Given the description of an element on the screen output the (x, y) to click on. 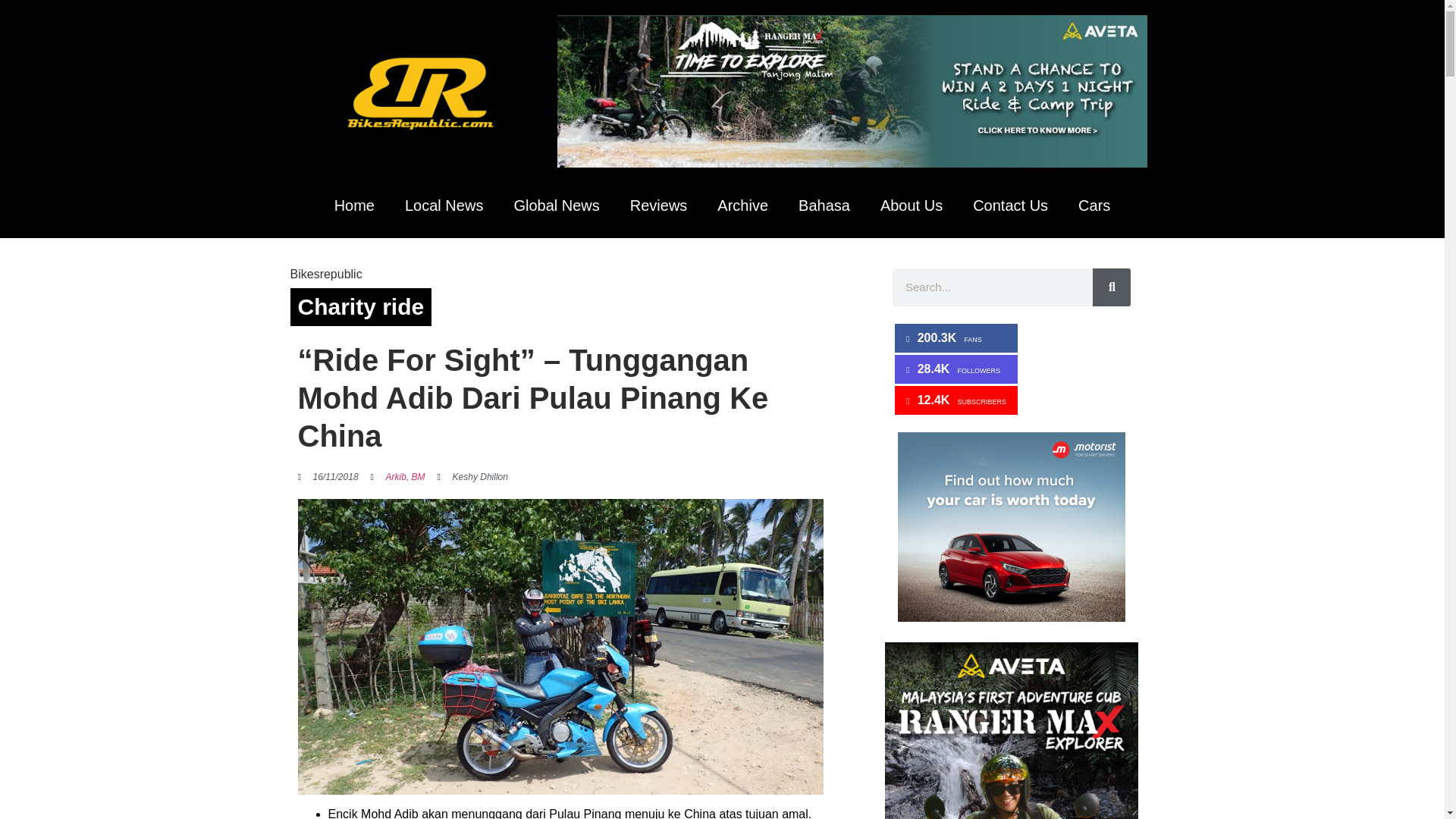
Arkib (395, 476)
Keshy Dhillon (473, 477)
Contact Us (1010, 205)
Home (354, 205)
Local News (443, 205)
Archive (742, 205)
About Us (911, 205)
Bahasa (823, 205)
Reviews (658, 205)
Cars (1093, 205)
Global News (555, 205)
BM (418, 476)
